Given the description of an element on the screen output the (x, y) to click on. 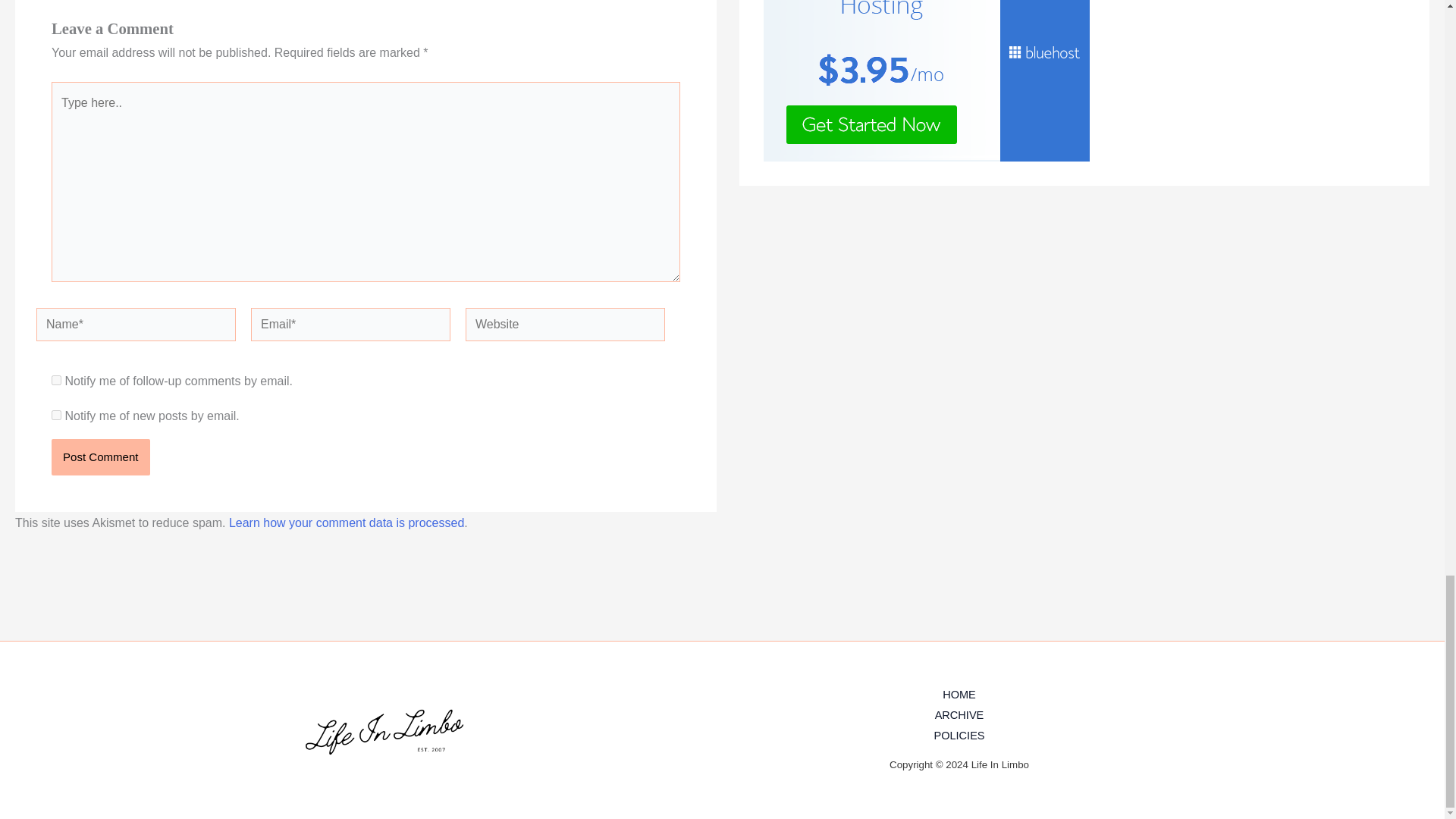
Post Comment (99, 456)
subscribe (55, 379)
subscribe (55, 415)
